Given the description of an element on the screen output the (x, y) to click on. 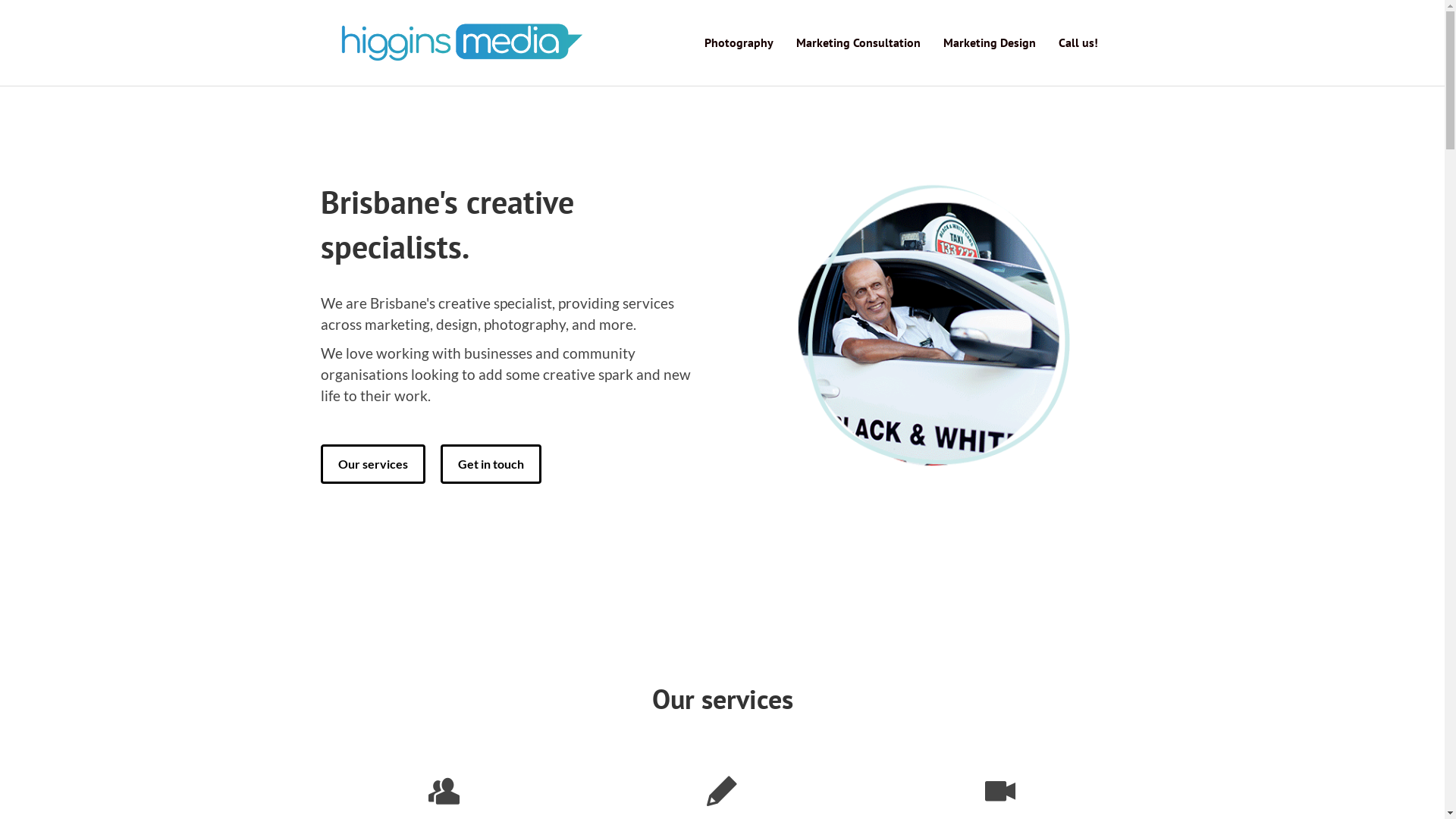
HM-Website-Landing-PIcture Element type: hover (930, 331)
Marketing Design Element type: text (988, 42)
Get in touch Element type: text (489, 463)
Photography Element type: text (738, 42)
Marketing Consultation Element type: text (857, 42)
Our services Element type: text (372, 463)
Call us! Element type: text (1077, 42)
